Given the description of an element on the screen output the (x, y) to click on. 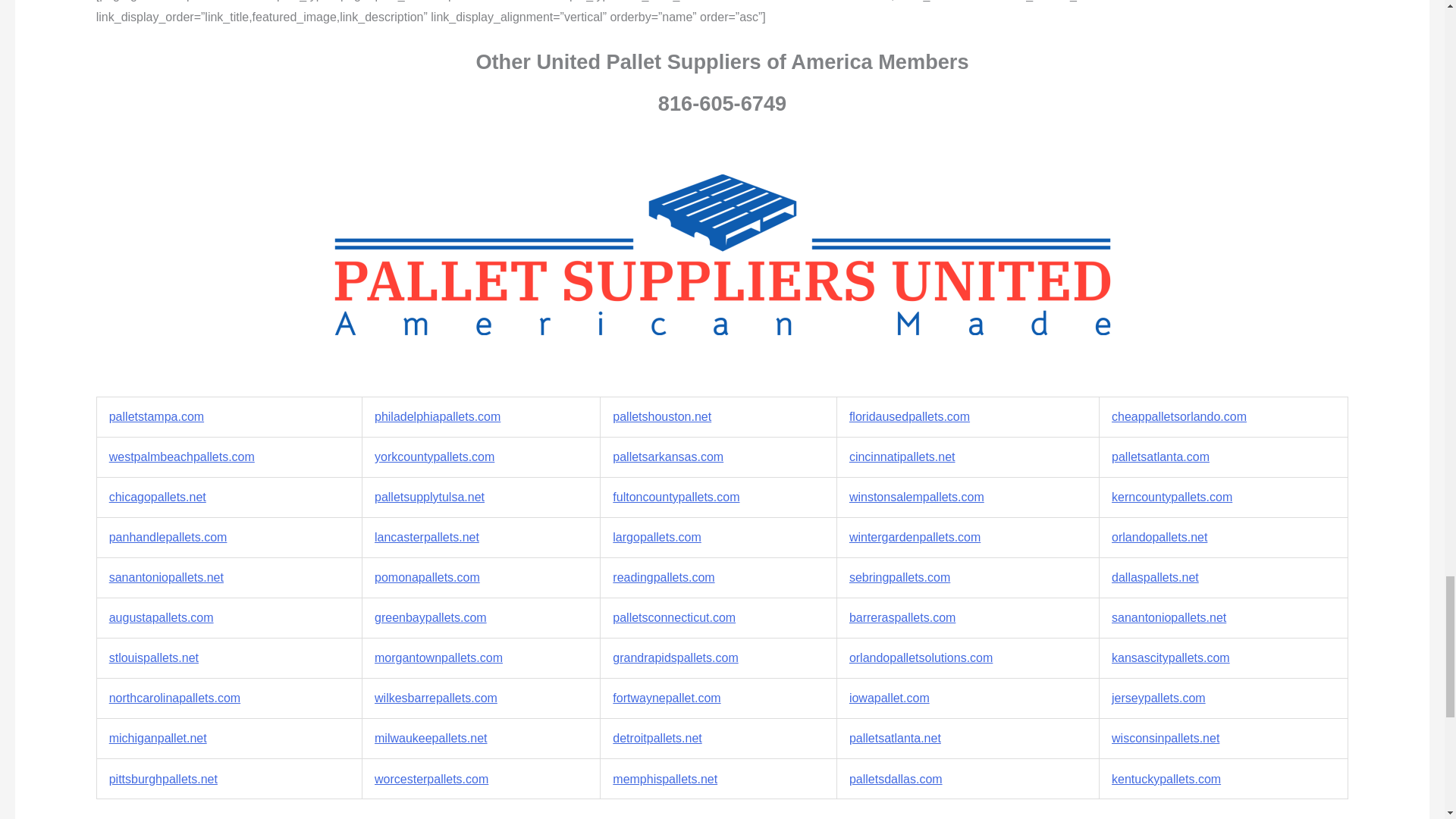
panhandlepallets.com (168, 536)
winstonsalempallets.com (916, 496)
largopallets.com (656, 536)
palletsupplytulsa.net (429, 496)
palletsarkansas.com (667, 456)
kerncountypallets.com (1171, 496)
wintergardenpallets.com (913, 536)
fultoncountypallets.com (675, 496)
westpalmbeachpallets.com (181, 456)
palletsatlanta.com (1160, 456)
